Given the description of an element on the screen output the (x, y) to click on. 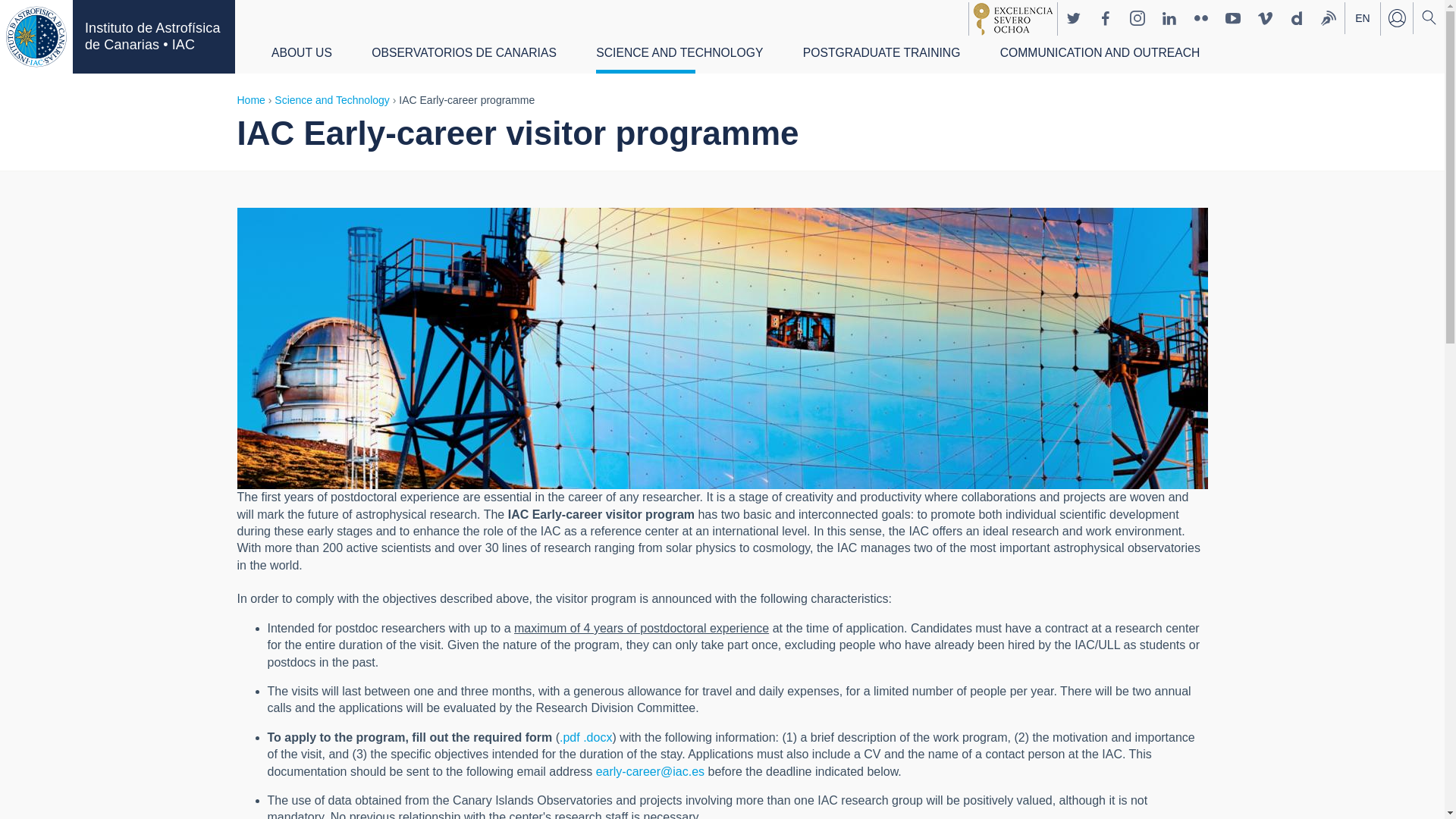
Home (36, 36)
Application form Early Career Visitor Program - pdf (569, 737)
ABOUT US (300, 55)
severoochoa (1012, 19)
EN (1362, 19)
Log in (1396, 18)
SCIENCE AND TECHNOLOGY (678, 55)
Home (153, 36)
OBSERVATORIOS DE CANARIAS (463, 55)
Application form Early Career Visitor Program - docx (597, 737)
